Given the description of an element on the screen output the (x, y) to click on. 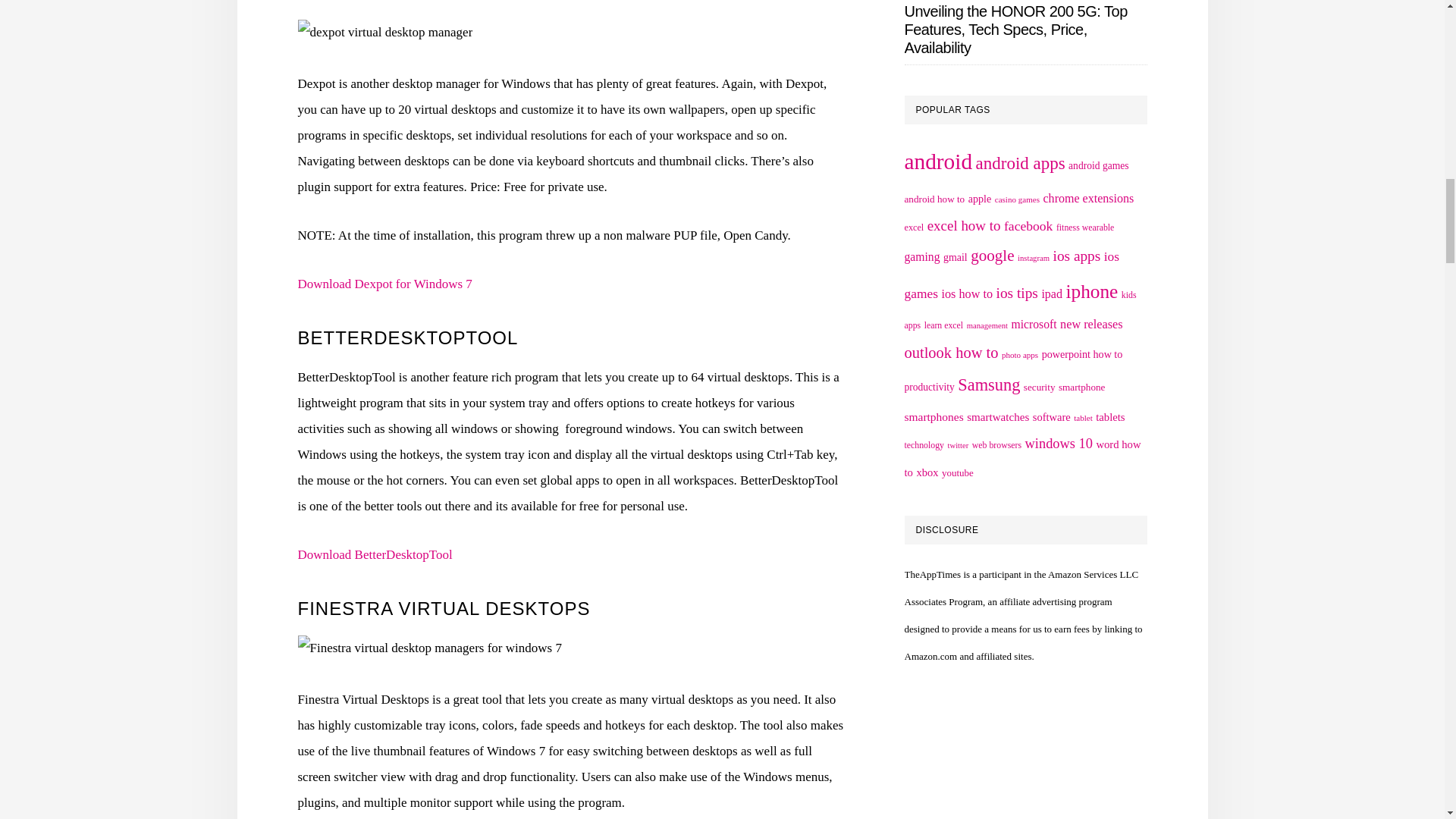
Download Dexpot for Windows 7 (384, 283)
Download BetterDesktopTool (374, 554)
Finestra Virtual Desktops (428, 647)
dexpot (384, 32)
